Given the description of an element on the screen output the (x, y) to click on. 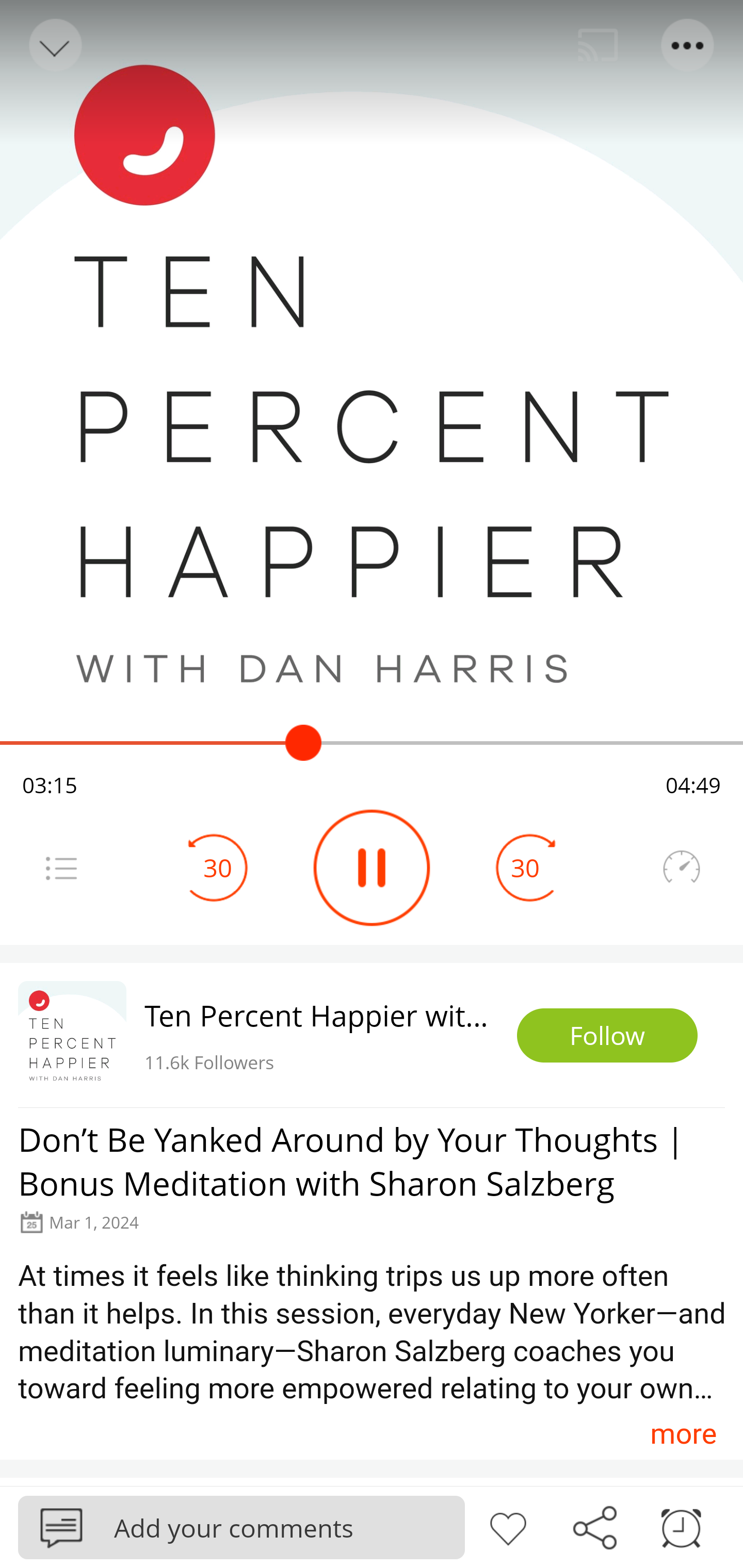
Back (53, 45)
Cast. Disconnected (597, 45)
Menu (688, 45)
Play (371, 867)
30 Seek Backward (217, 867)
30 Seek Forward (525, 867)
Menu (60, 867)
Speedometer (681, 867)
Follow (607, 1035)
more (682, 1432)
Like (508, 1526)
Share (594, 1526)
Sleep timer (681, 1526)
Podbean Add your comments (241, 1526)
